Given the description of an element on the screen output the (x, y) to click on. 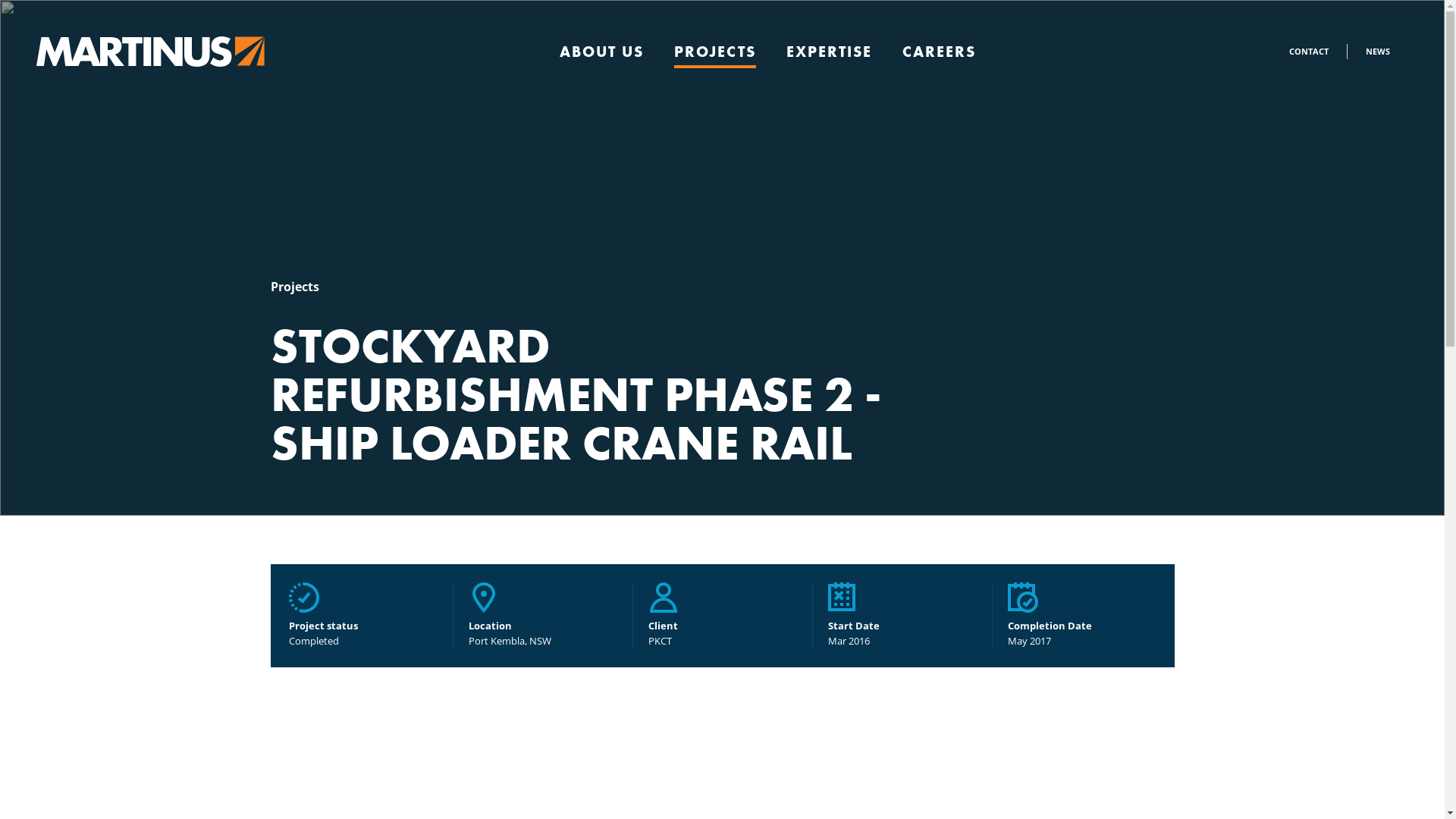
NEWS Element type: text (1377, 50)
Projects Element type: text (293, 286)
ABOUT US Element type: text (601, 51)
PROJECTS Element type: text (715, 51)
CONTACT Element type: text (1308, 50)
CAREERS Element type: text (938, 51)
EXPERTISE Element type: text (829, 51)
